Given the description of an element on the screen output the (x, y) to click on. 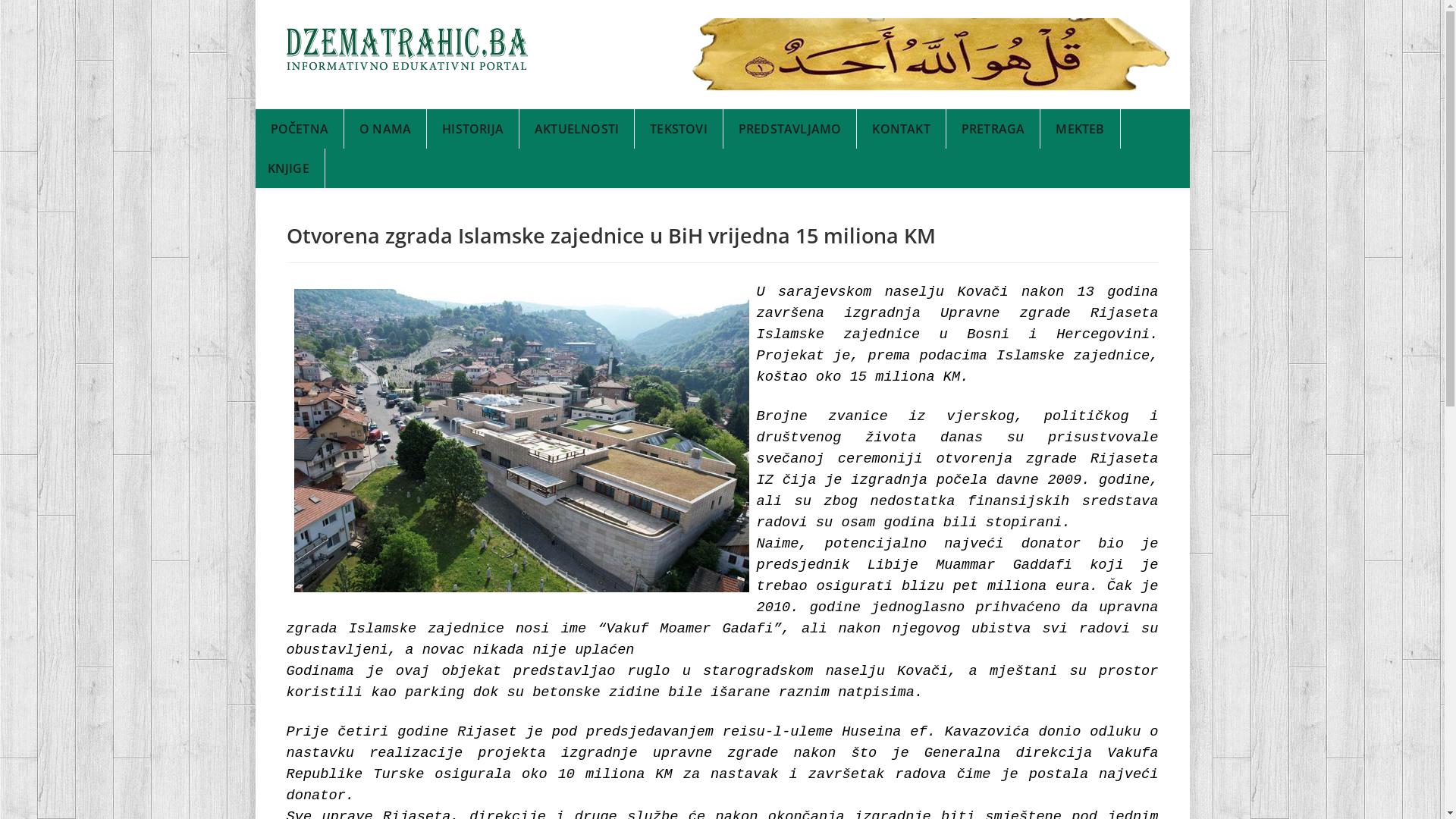
PRETRAGA Element type: text (993, 128)
Headlines Element type: hover (407, 49)
HISTORIJA Element type: text (472, 128)
KONTAKT Element type: text (900, 128)
O NAMA Element type: text (385, 128)
AKTUELNOSTI Element type: text (576, 128)
KNJIGE Element type: text (287, 168)
PREDSTAVLJAMO Element type: text (790, 128)
MEKTEB Element type: text (1080, 128)
